Given the description of an element on the screen output the (x, y) to click on. 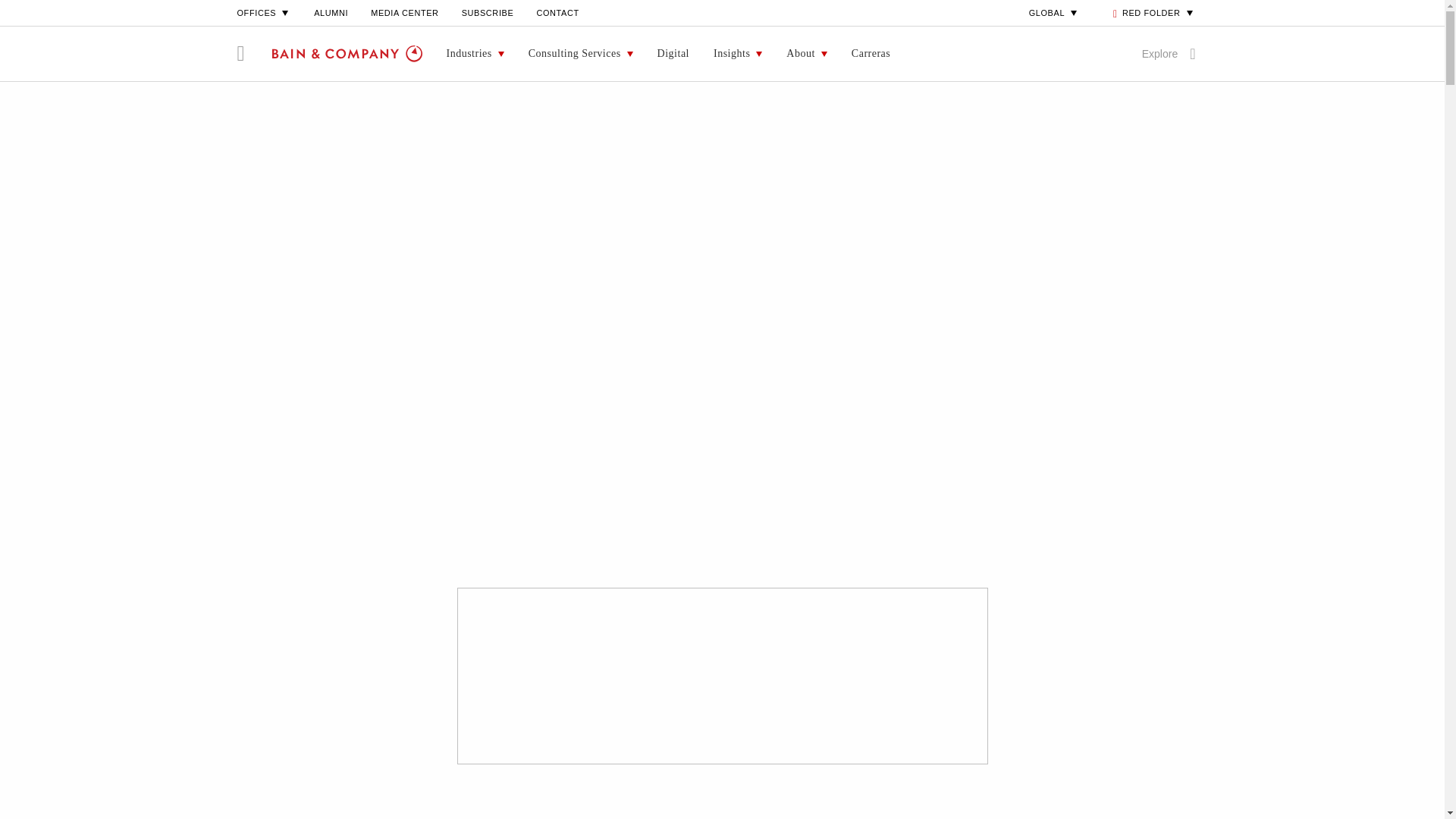
OFFICES (263, 12)
